Given the description of an element on the screen output the (x, y) to click on. 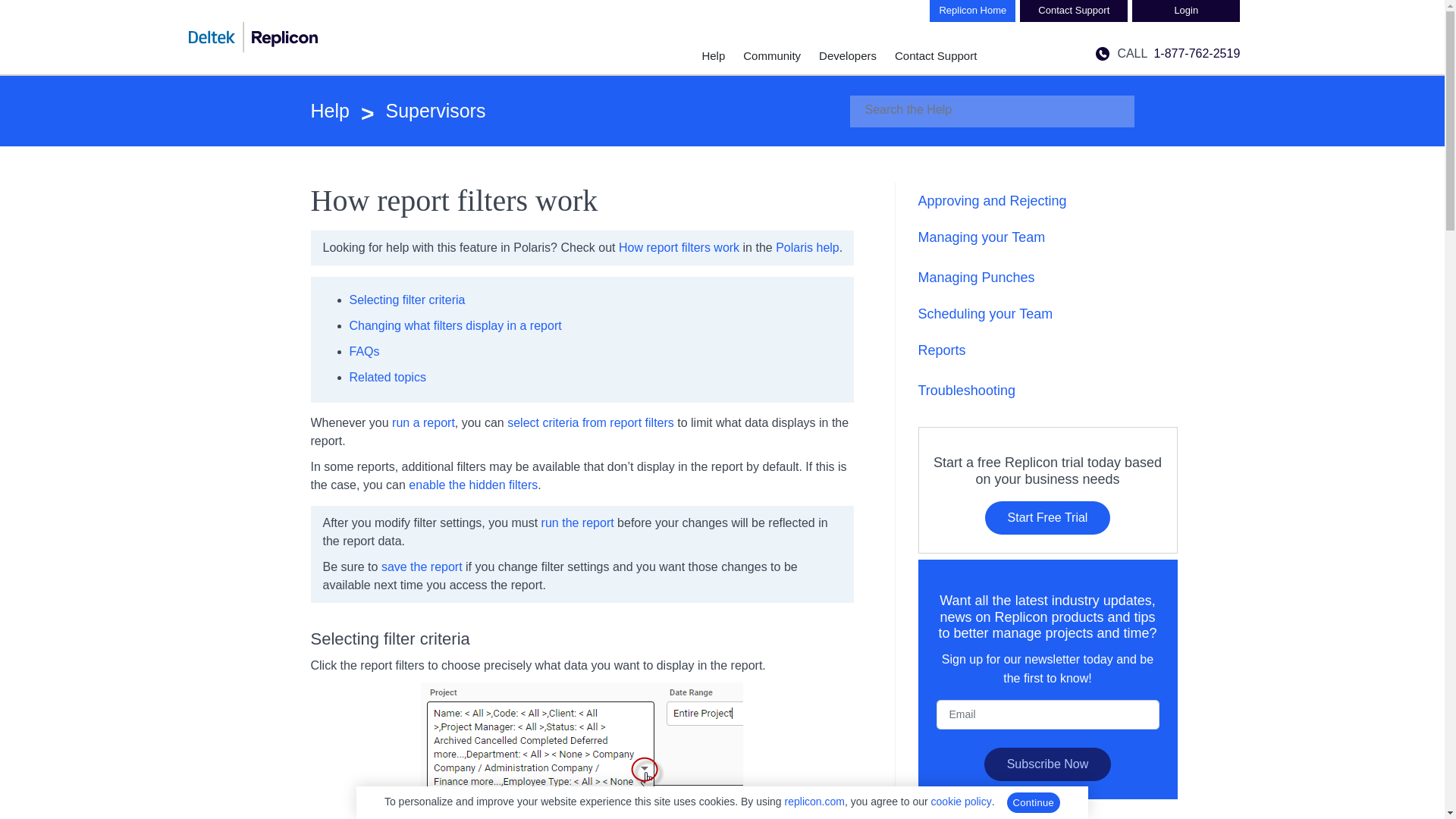
Supervisors (417, 110)
run a report (422, 422)
Polaris help (808, 246)
run the report (577, 522)
Replicon Home (972, 11)
Managing your Team (981, 237)
Selecting filter criteria (406, 299)
Approving and Rejecting (991, 200)
Developers (847, 54)
Managing Punches (975, 277)
